Given the description of an element on the screen output the (x, y) to click on. 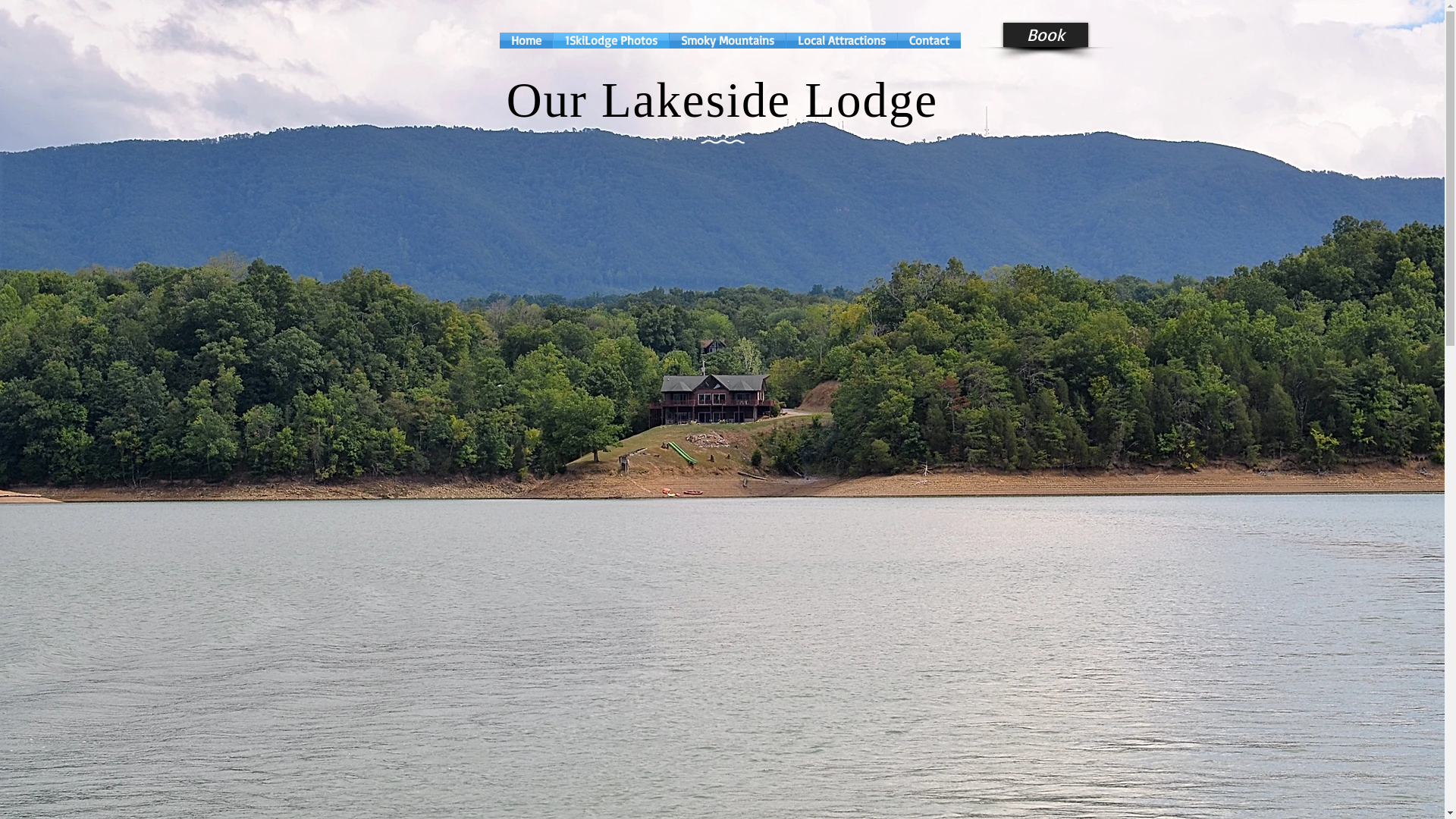
1SkiLodge Photos Element type: text (610, 40)
Smoky Mountains Element type: text (726, 40)
Contact Element type: text (928, 40)
Local Attractions Element type: text (840, 40)
Book Element type: text (1044, 34)
Home Element type: text (525, 40)
